Given the description of an element on the screen output the (x, y) to click on. 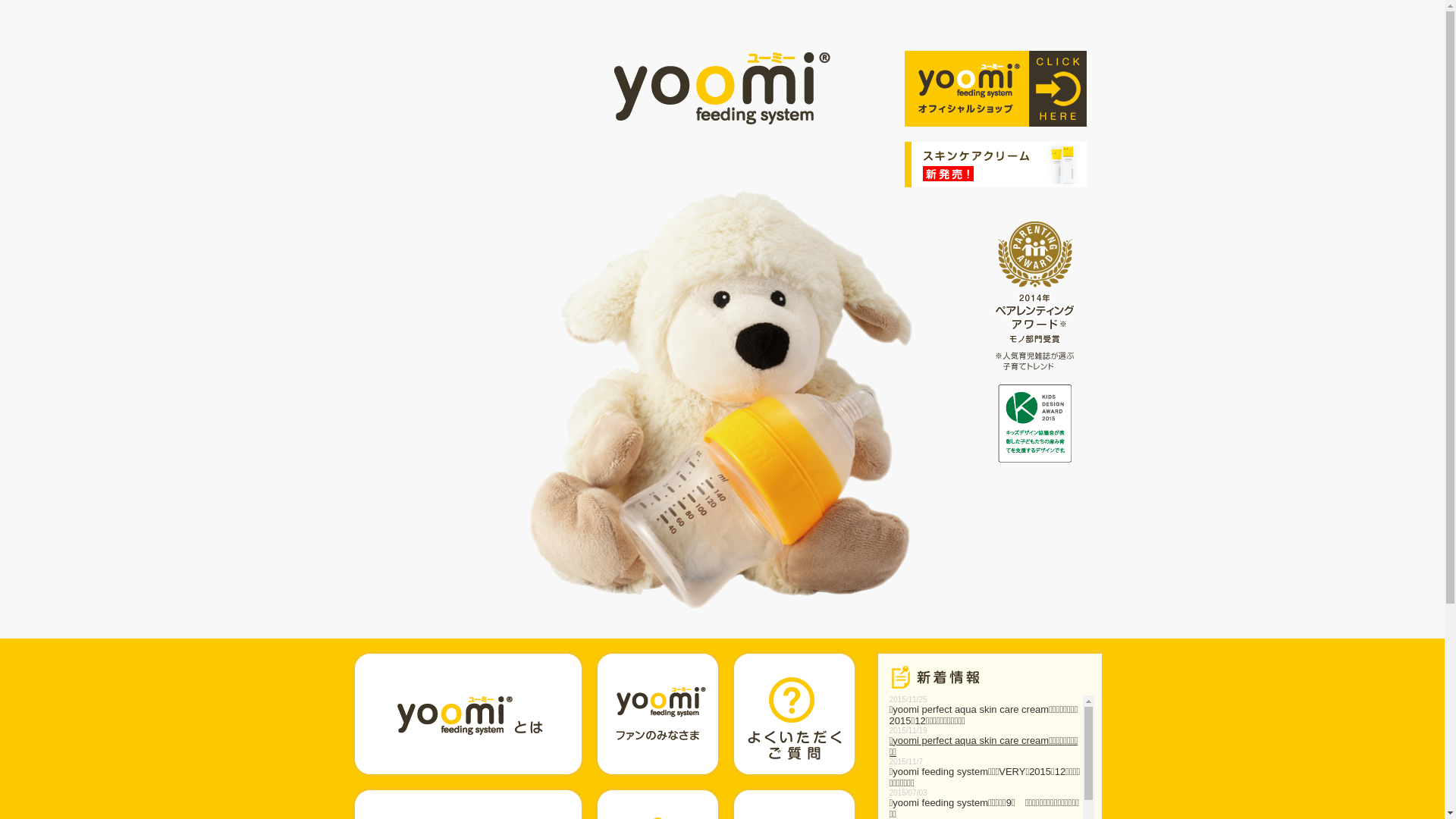
yoomi JAPAN Element type: hover (722, 88)
